Given the description of an element on the screen output the (x, y) to click on. 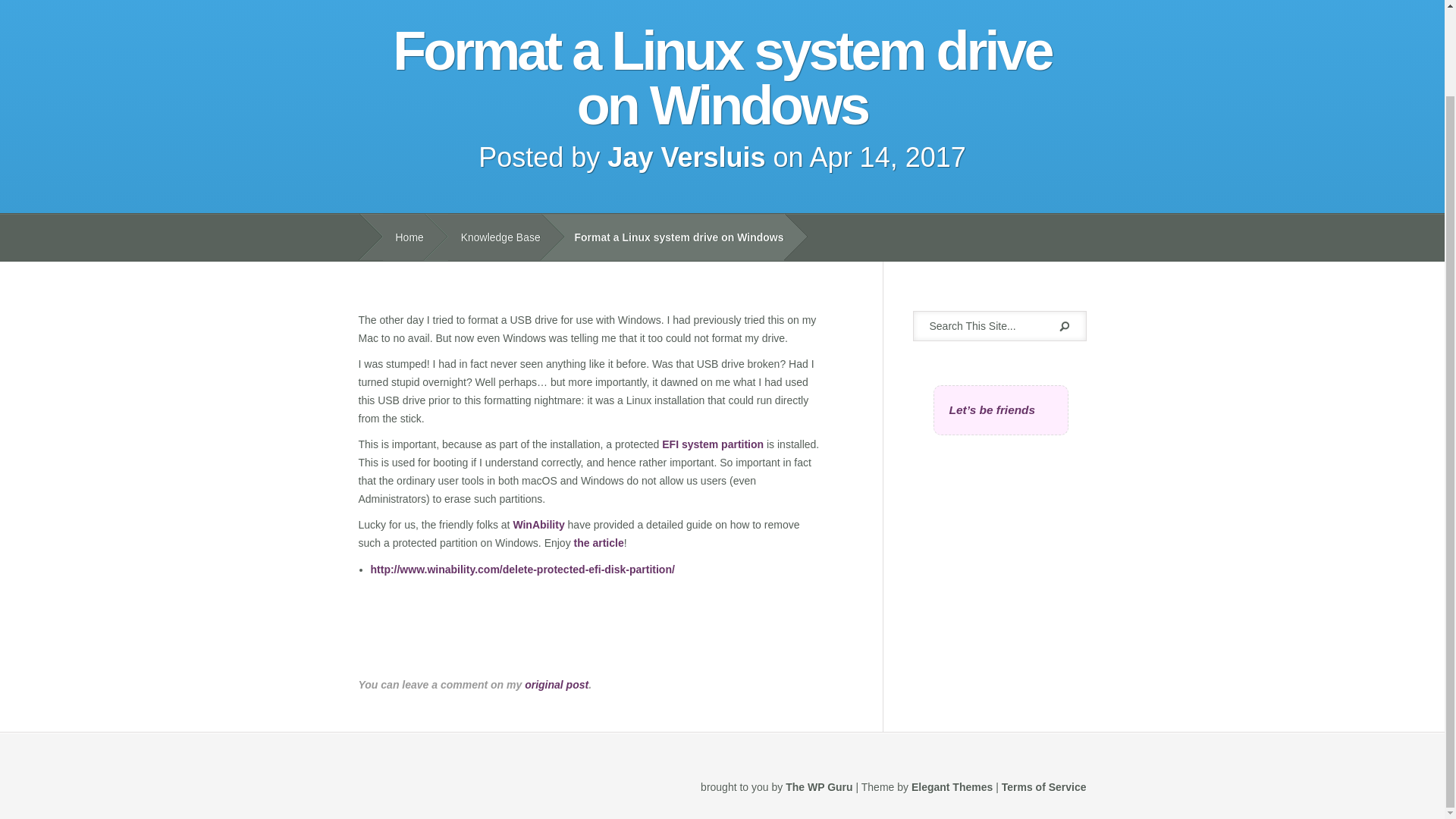
Search This Site... (983, 325)
Posts by Jay Versluis (686, 156)
Advertisement (535, 640)
